Given the description of an element on the screen output the (x, y) to click on. 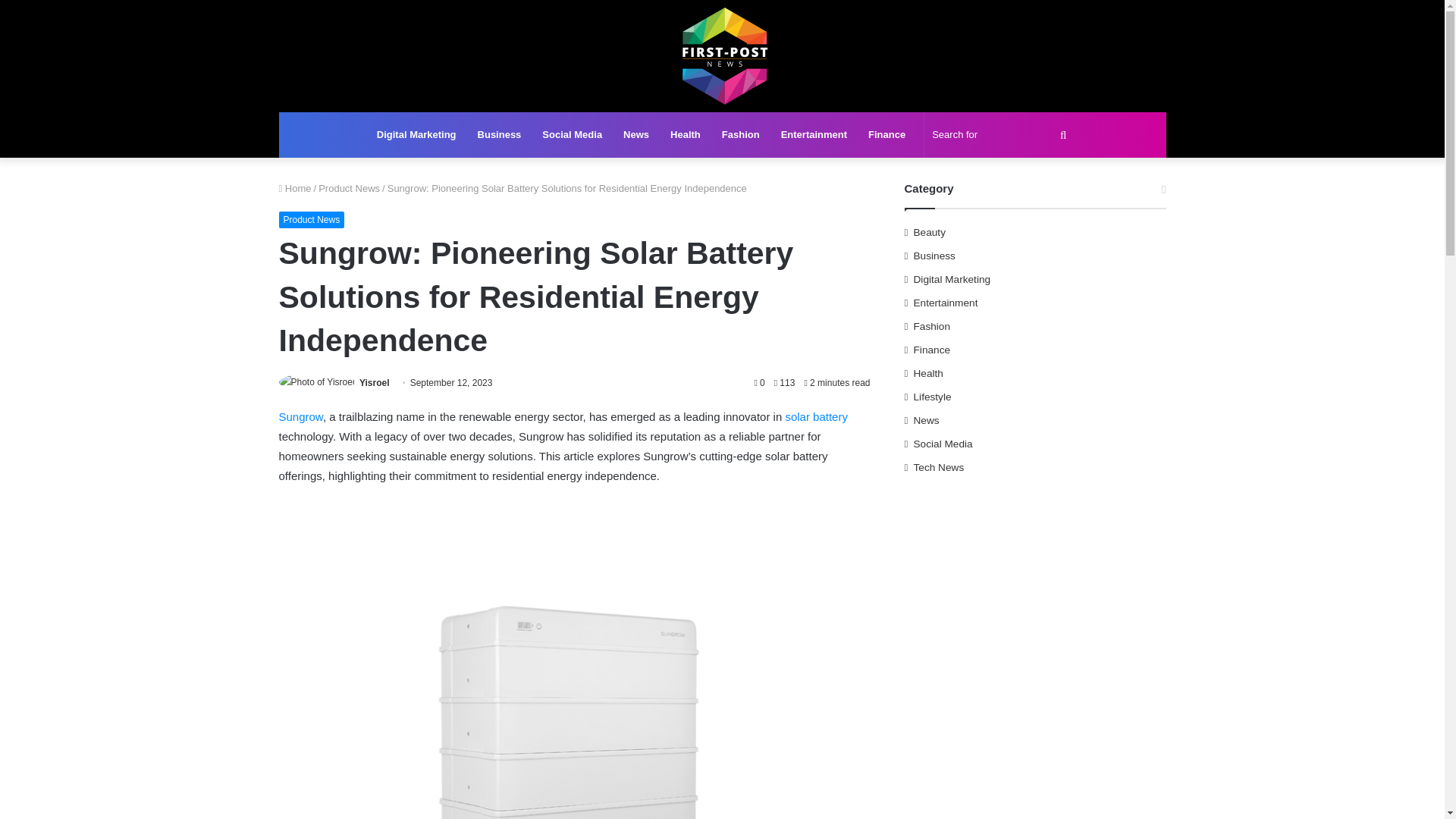
Yisroel (374, 382)
Digital Marketing (416, 135)
Entertainment (813, 135)
Finance (886, 135)
Fashion (740, 135)
Health (685, 135)
Yisroel (374, 382)
solar battery (815, 416)
Product News (349, 188)
Business (499, 135)
News (635, 135)
Social Media (571, 135)
First Post News (721, 56)
Search for (1001, 135)
Product News (312, 219)
